Given the description of an element on the screen output the (x, y) to click on. 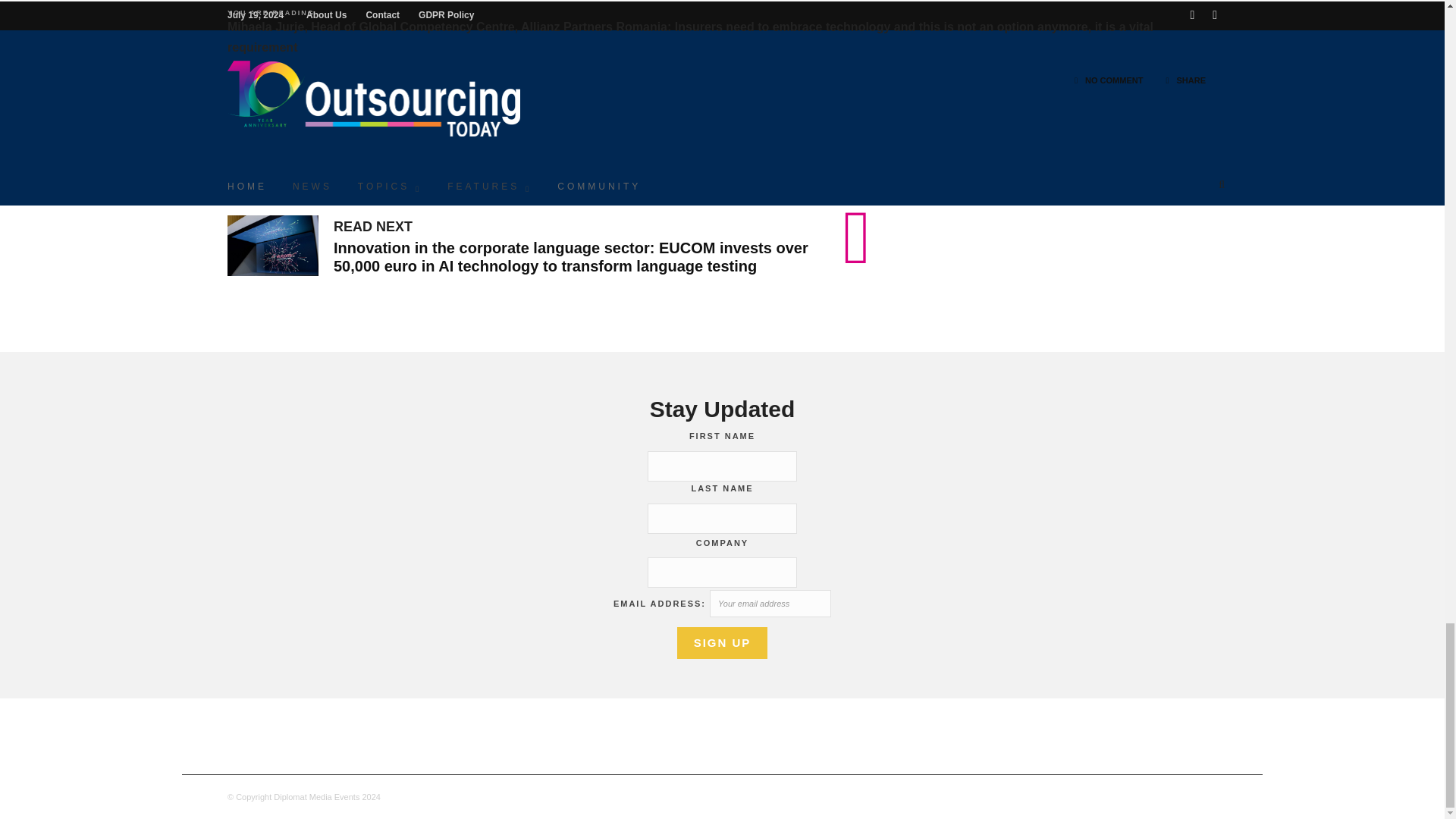
Sign up (722, 643)
